Given the description of an element on the screen output the (x, y) to click on. 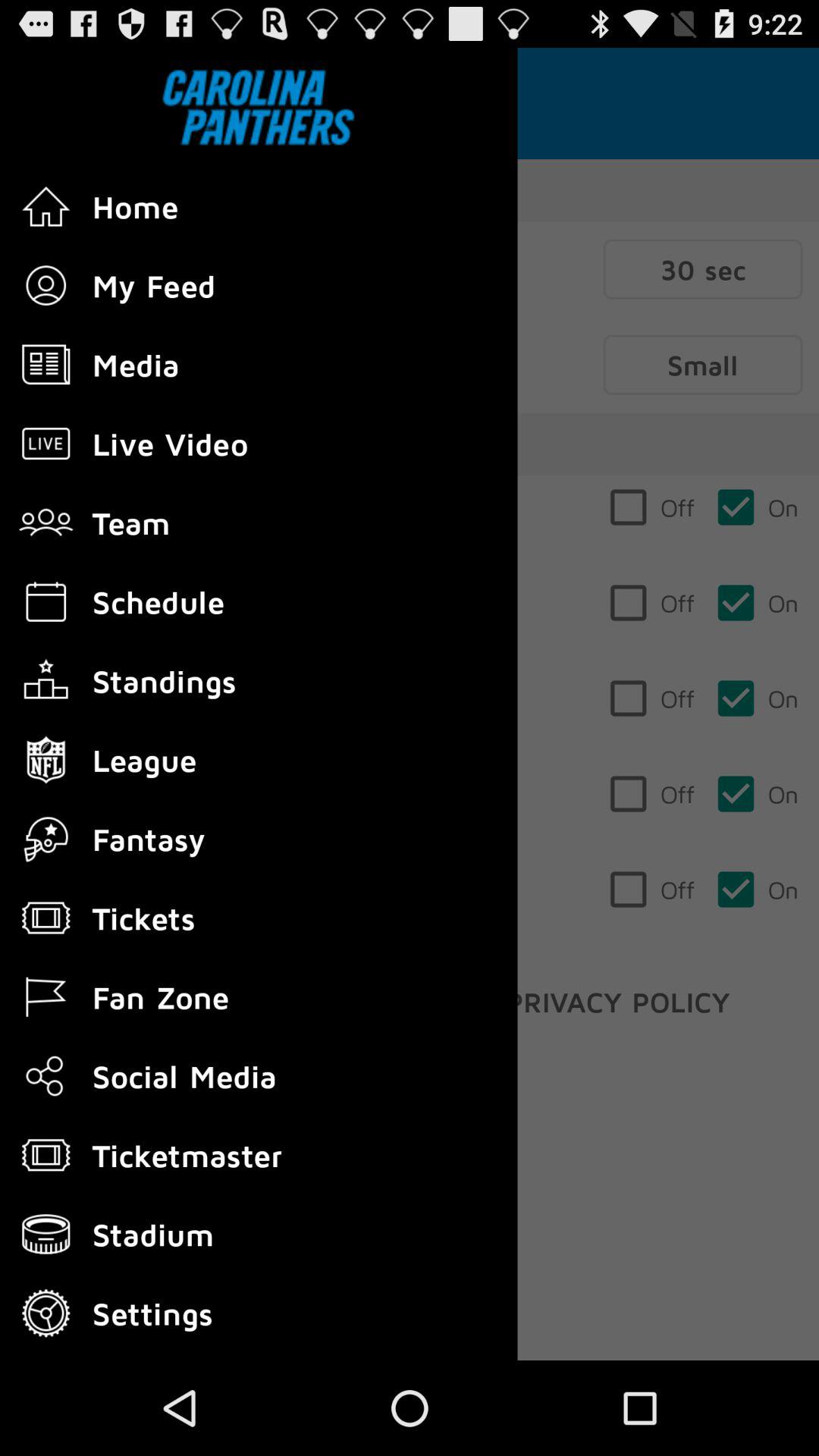
click on the second on from the top (756, 602)
